Given the description of an element on the screen output the (x, y) to click on. 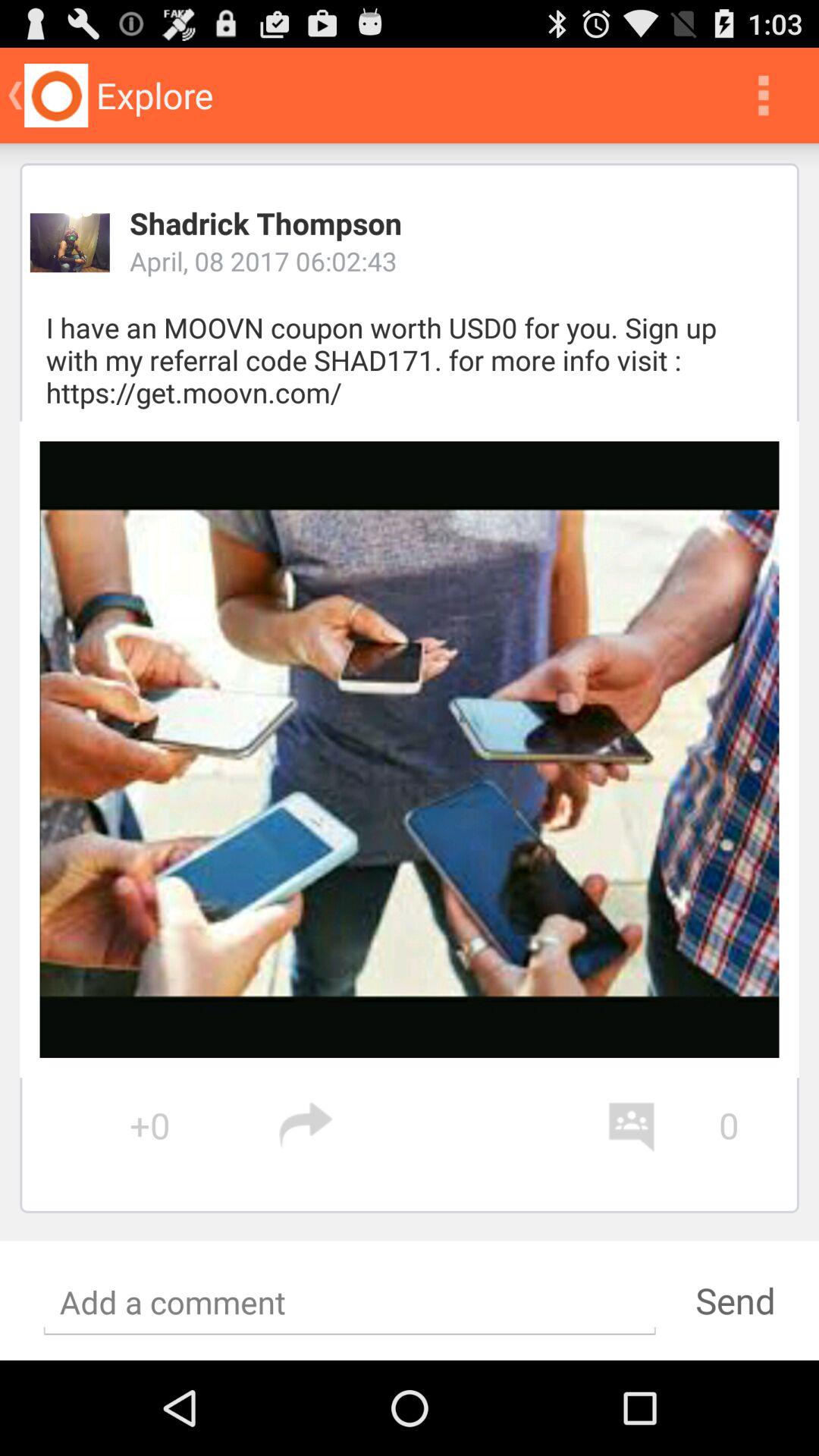
turn off app to the left of shadrick thompson app (69, 242)
